Given the description of an element on the screen output the (x, y) to click on. 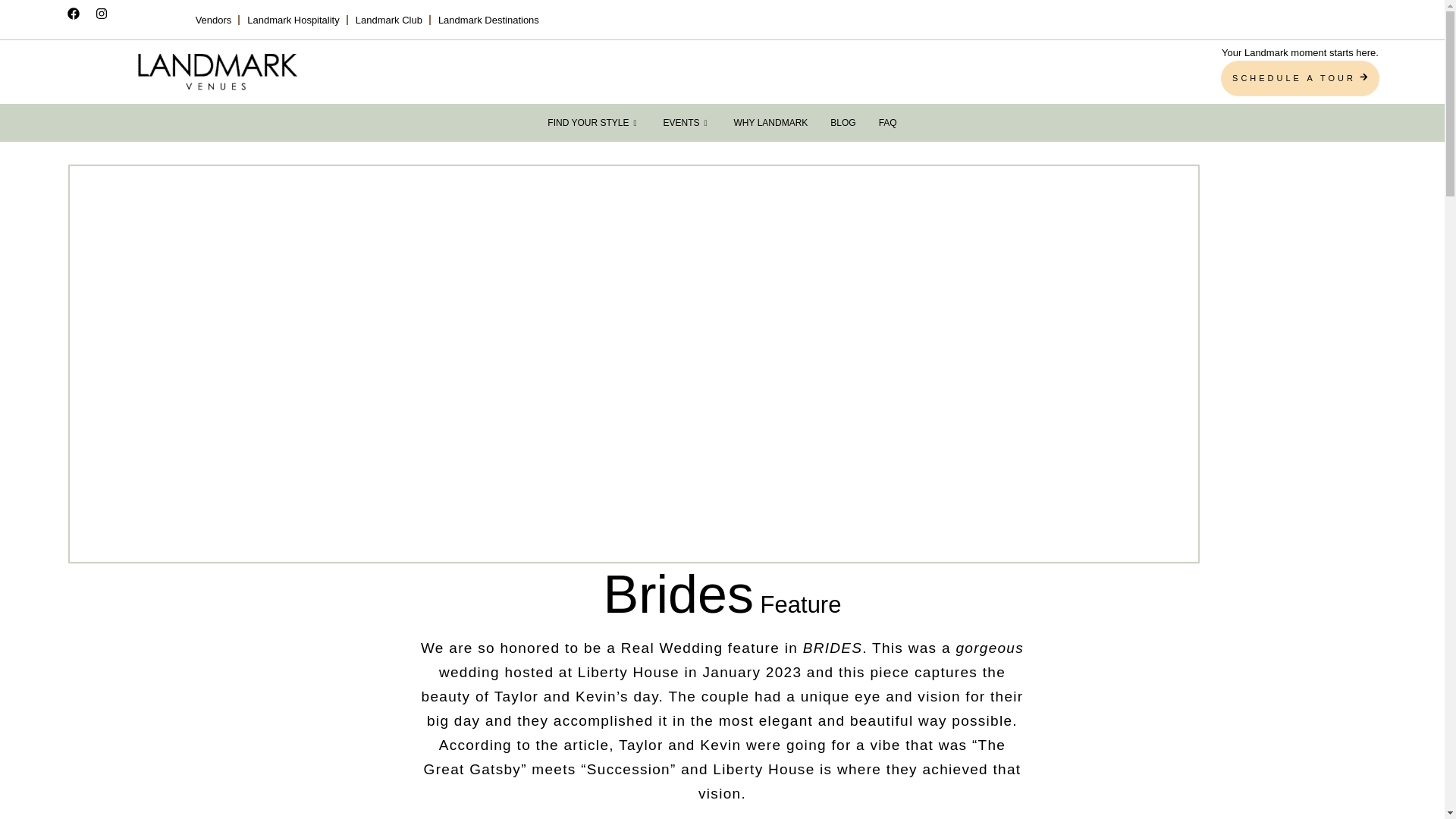
Vendors (213, 19)
Landmark Club (388, 19)
Landmark Hospitality (293, 19)
